Given the description of an element on the screen output the (x, y) to click on. 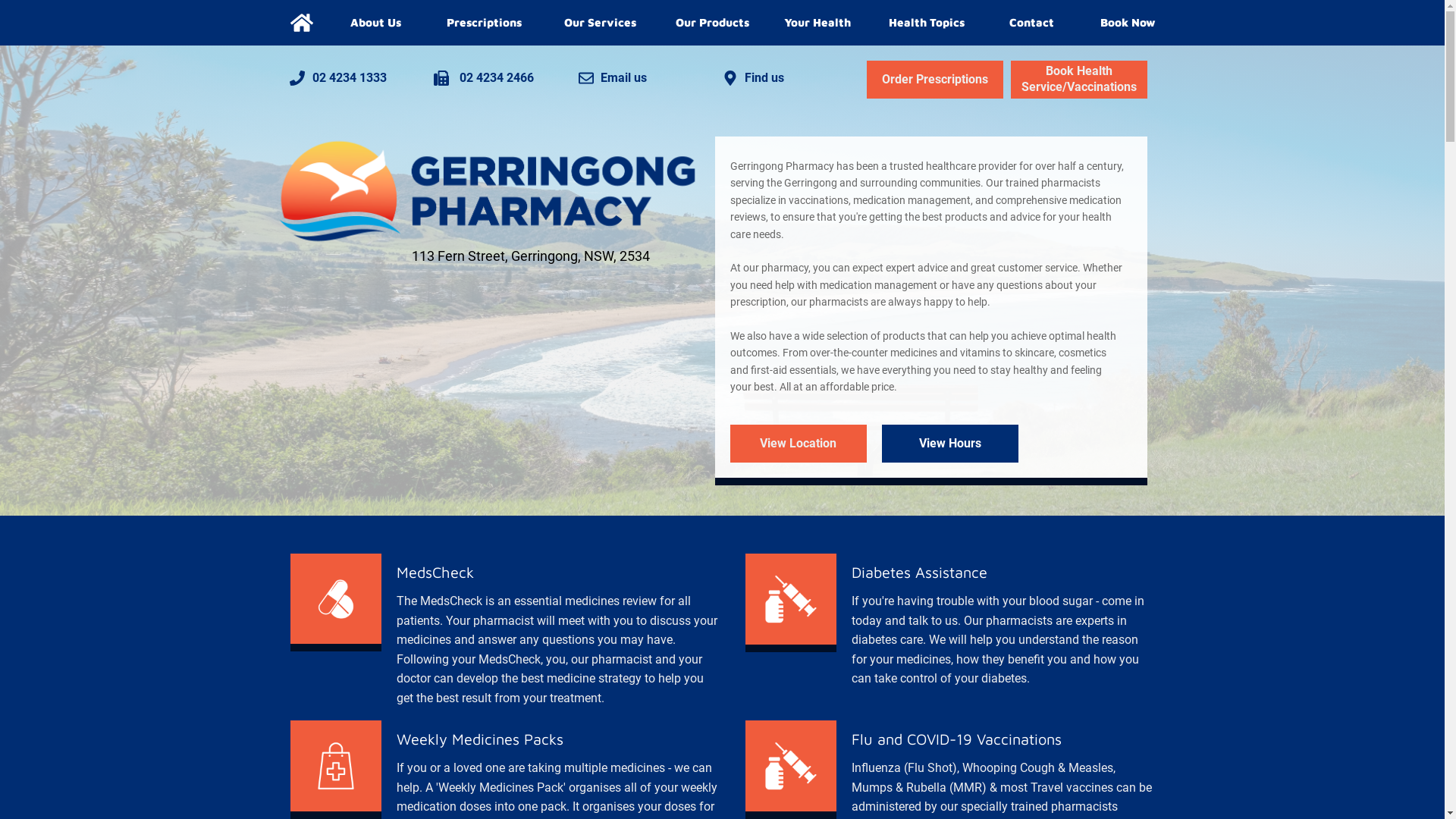
Book Now Element type: text (1127, 22)
      02 4234 1333 Element type: text (350, 77)
       02 4234 2466 Element type: text (494, 77)
Book Health Service/Vaccinations Element type: text (1078, 79)
Health Topics Element type: text (926, 22)
View Location Element type: text (797, 443)
Our Services Element type: text (600, 22)
Prescriptions Element type: text (483, 22)
Contact Element type: text (1031, 22)
Order Prescriptions Element type: text (934, 79)
Your Health Element type: text (817, 22)
View Hours Element type: text (949, 443)
Our Products Element type: text (711, 22)
      Email us Element type: text (638, 77)
      Find us Element type: text (771, 77)
About Us Element type: text (376, 22)
